Given the description of an element on the screen output the (x, y) to click on. 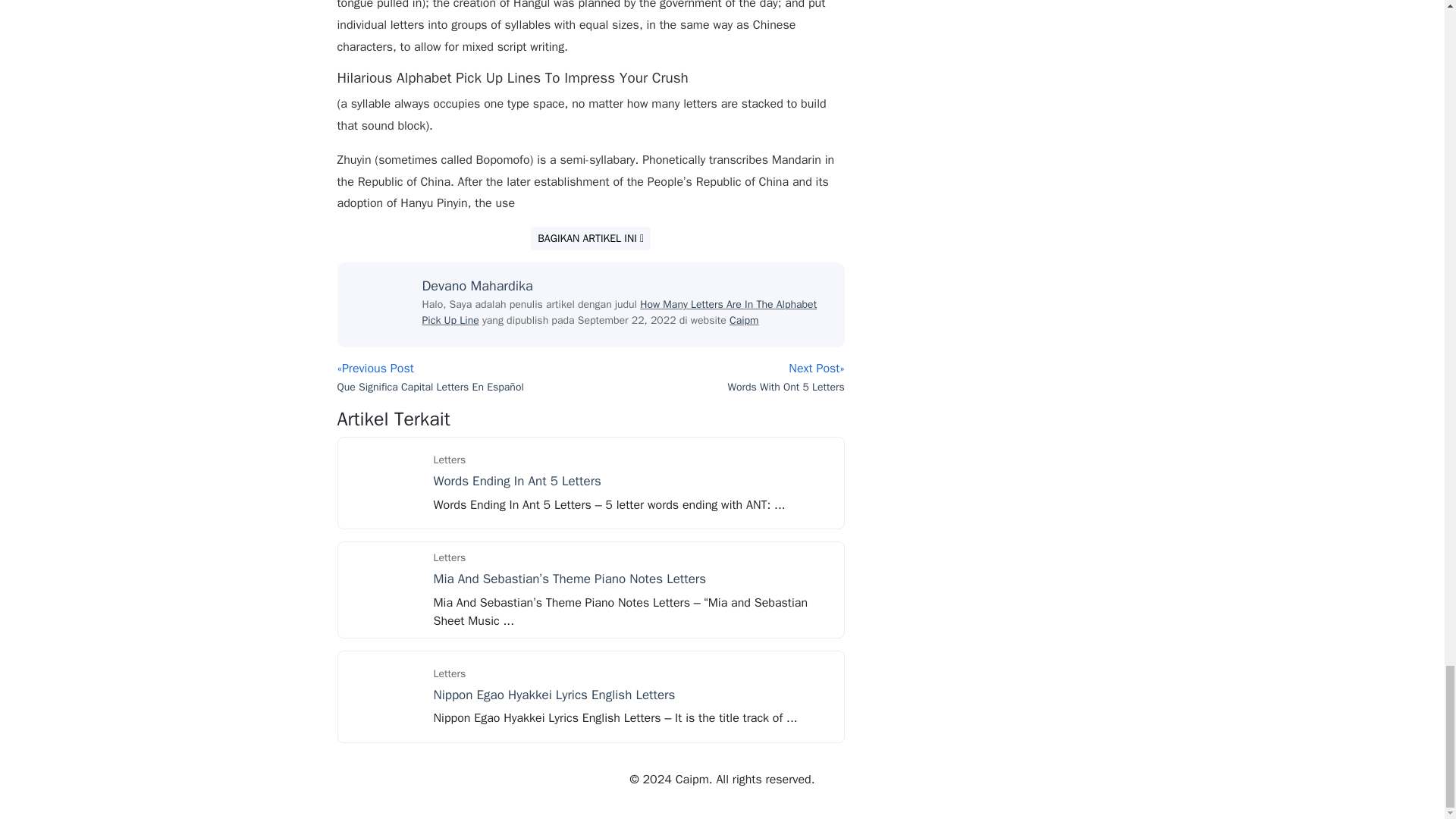
Caipm (743, 319)
Caipm (743, 319)
Words Ending In Ant 5 Letters (517, 480)
Nippon Egao Hyakkei Lyrics English Letters (554, 694)
Words Ending In Ant 5 Letters (384, 482)
BAGIKAN ARTIKEL INI (590, 238)
Letters (449, 673)
How Many Letters Are In The Alphabet Pick Up Line (619, 312)
Nippon Egao Hyakkei Lyrics English Letters (384, 695)
How Many Letters Are In The Alphabet Pick Up Line (619, 312)
